Given the description of an element on the screen output the (x, y) to click on. 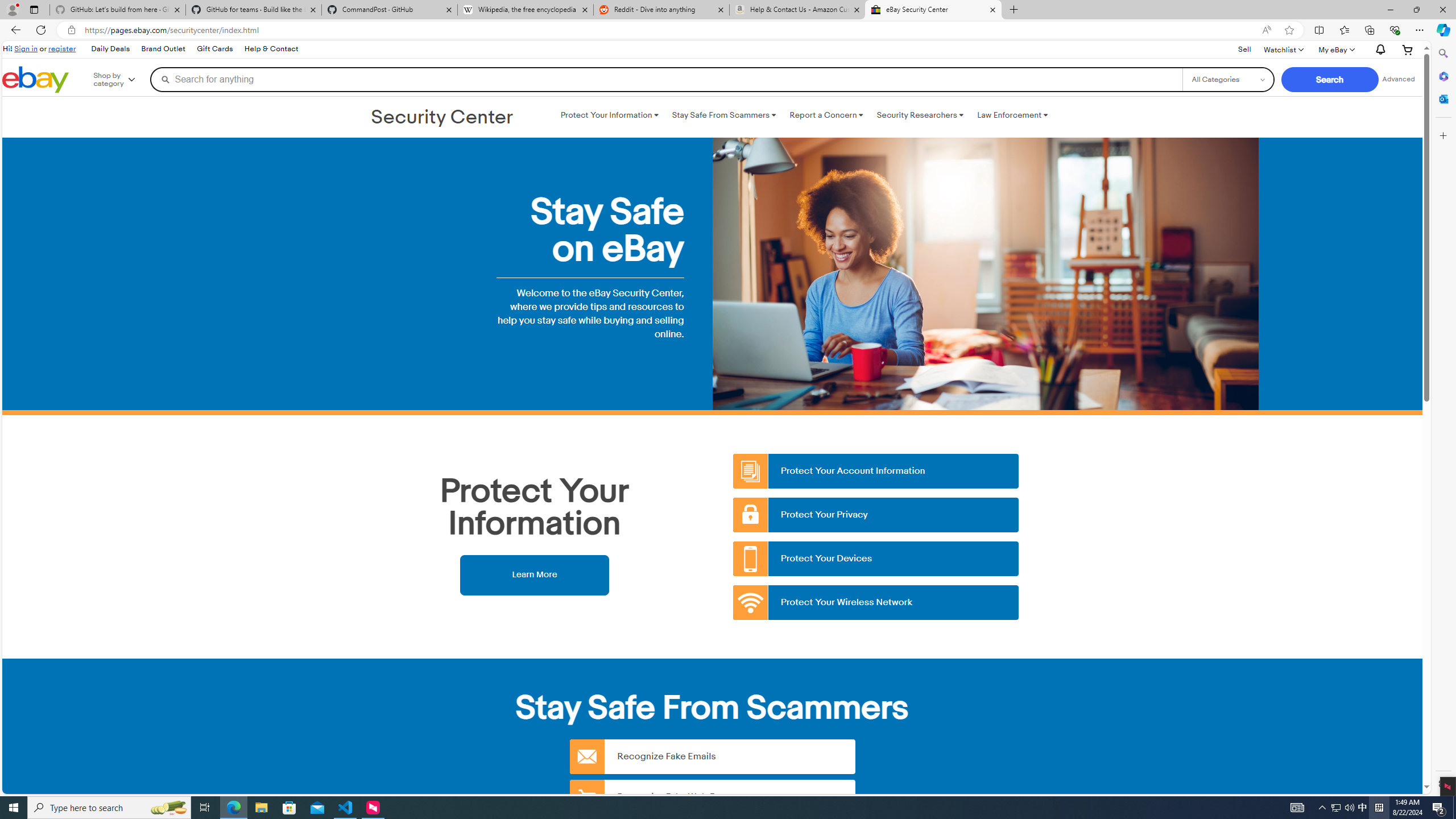
Protect Your Information  (608, 115)
eBay Security Center (933, 9)
Sign in (25, 48)
Stay Safe From Scammers  (723, 115)
Expand Cart (1407, 49)
Your shopping cart (1407, 49)
Help & Contact Us - Amazon Customer Service - Sleeping (797, 9)
Law Enforcement  (1012, 115)
Gift Cards (214, 49)
